Given the description of an element on the screen output the (x, y) to click on. 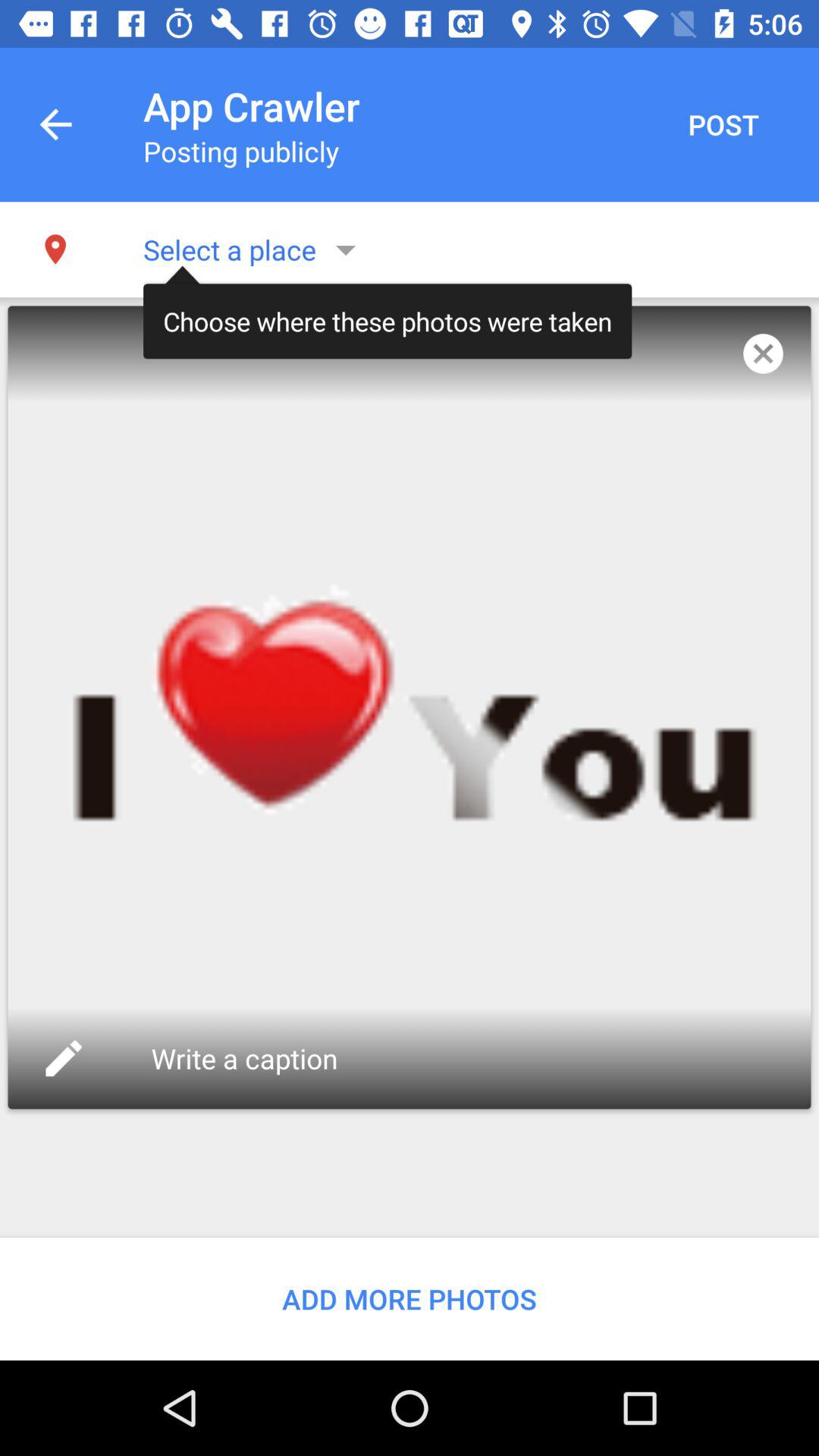
flip to post item (723, 124)
